Given the description of an element on the screen output the (x, y) to click on. 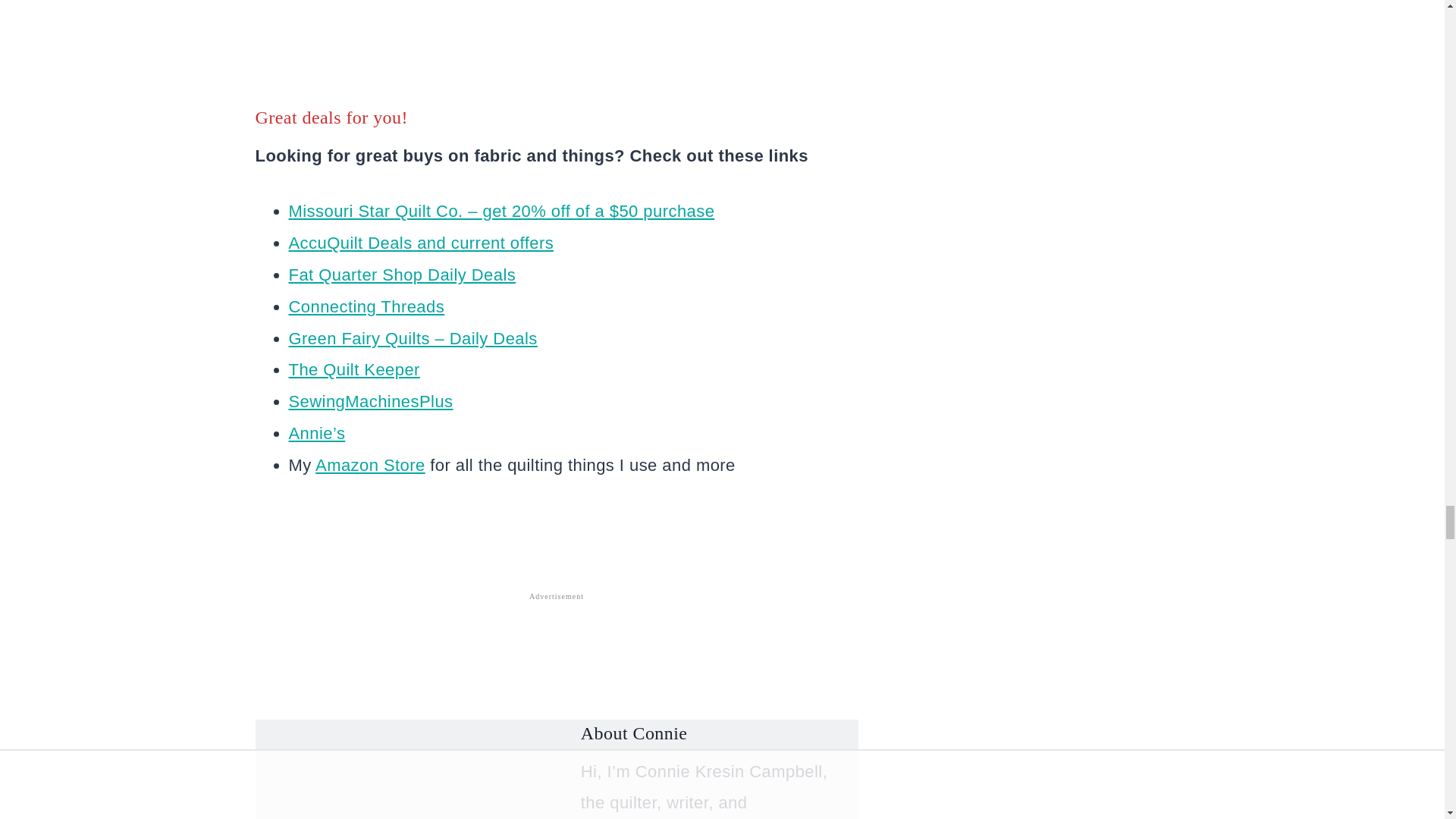
AccuQuilt Deals and current offers (420, 242)
Fat Quarter Shop Daily Deals (401, 274)
SewingMachinesPlus (370, 401)
Amazon Store (370, 465)
About Connie (633, 732)
The Quilt Keeper (353, 369)
Connecting Threads (366, 306)
